Given the description of an element on the screen output the (x, y) to click on. 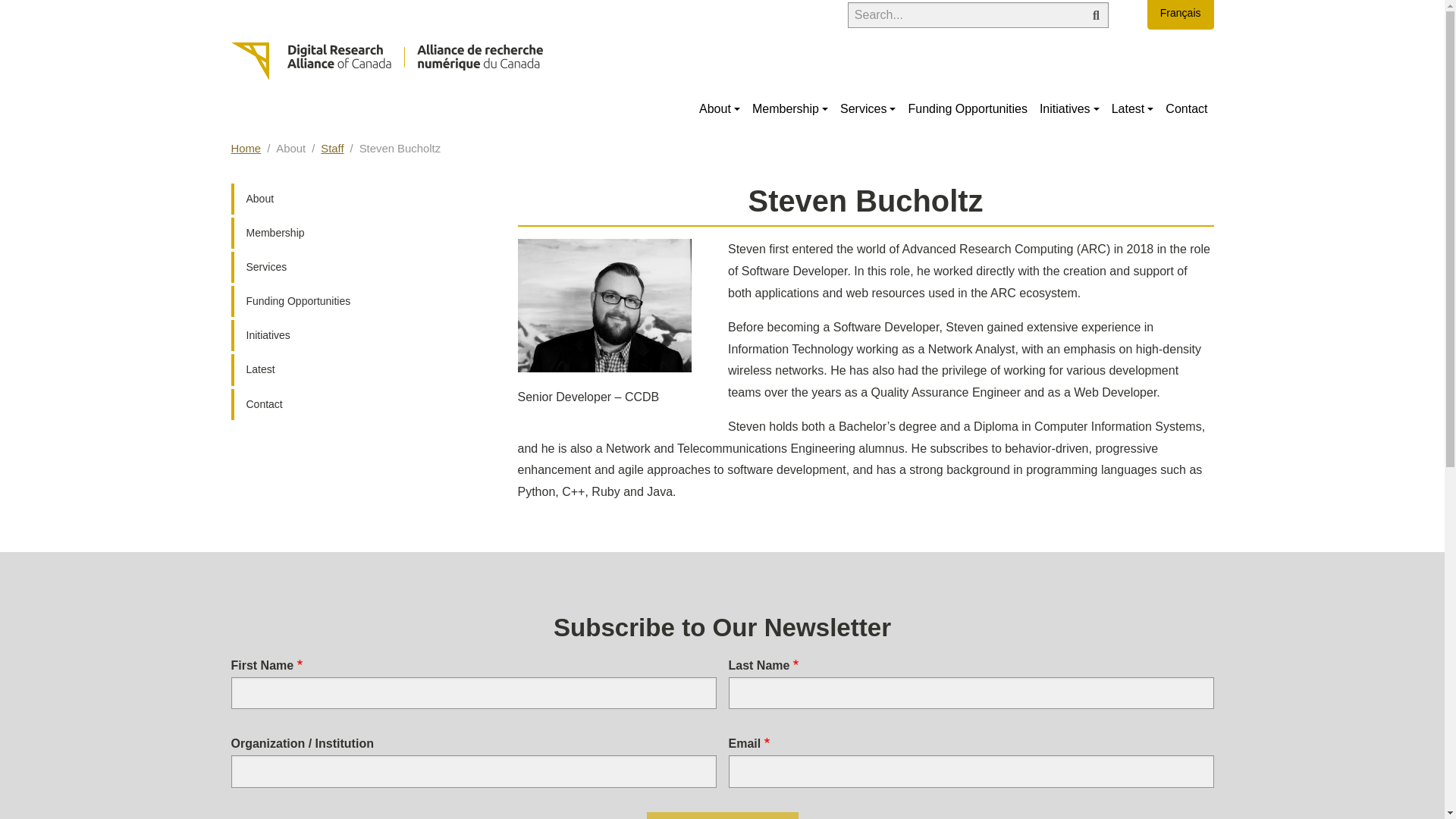
Home (245, 148)
About (347, 198)
Funding Opportunities (966, 109)
Services (867, 109)
Search (1095, 15)
Contact (1185, 109)
Home (385, 61)
Staff (331, 148)
